Given the description of an element on the screen output the (x, y) to click on. 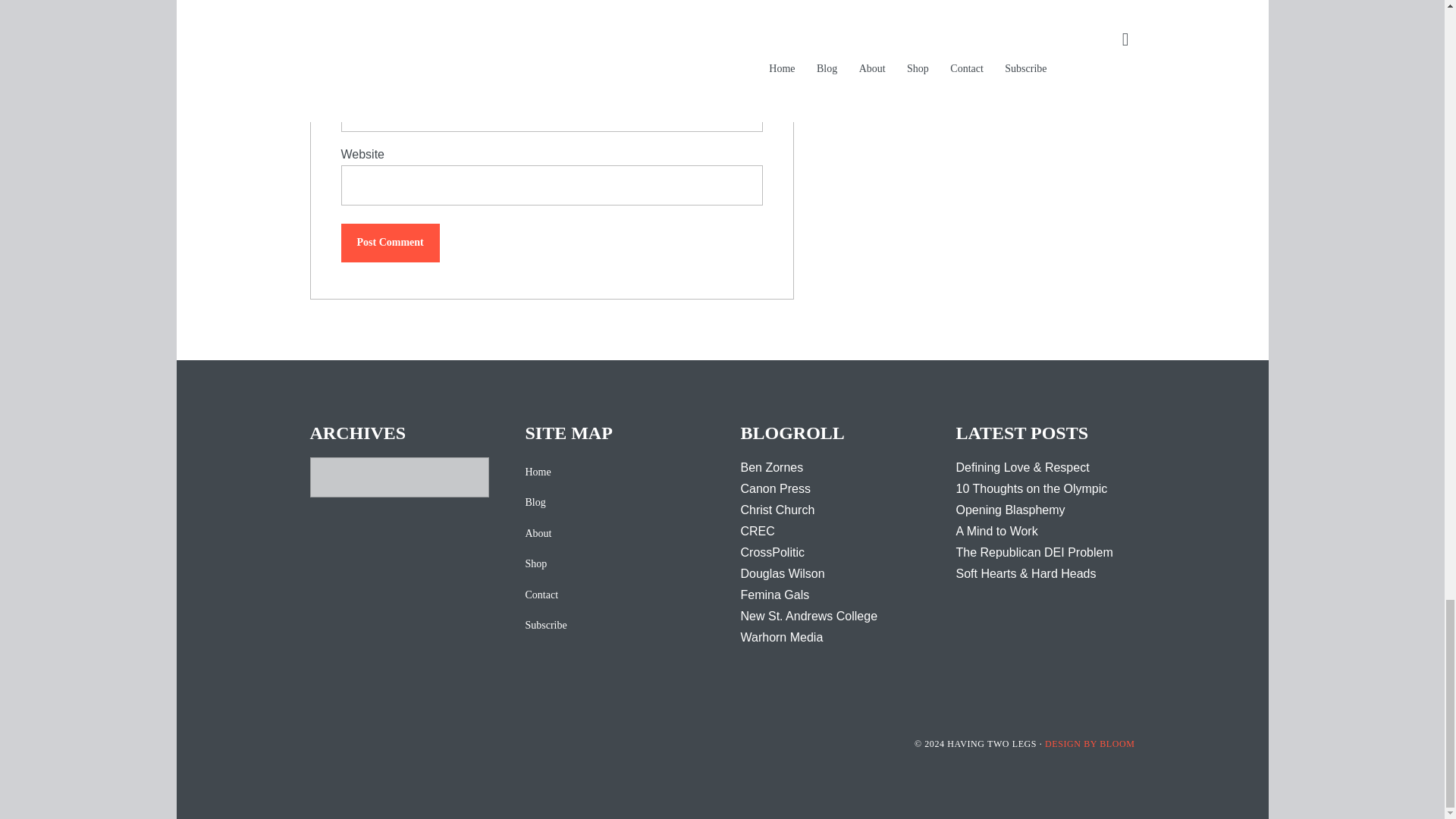
Post Comment (389, 242)
Post Comment (389, 242)
